Given the description of an element on the screen output the (x, y) to click on. 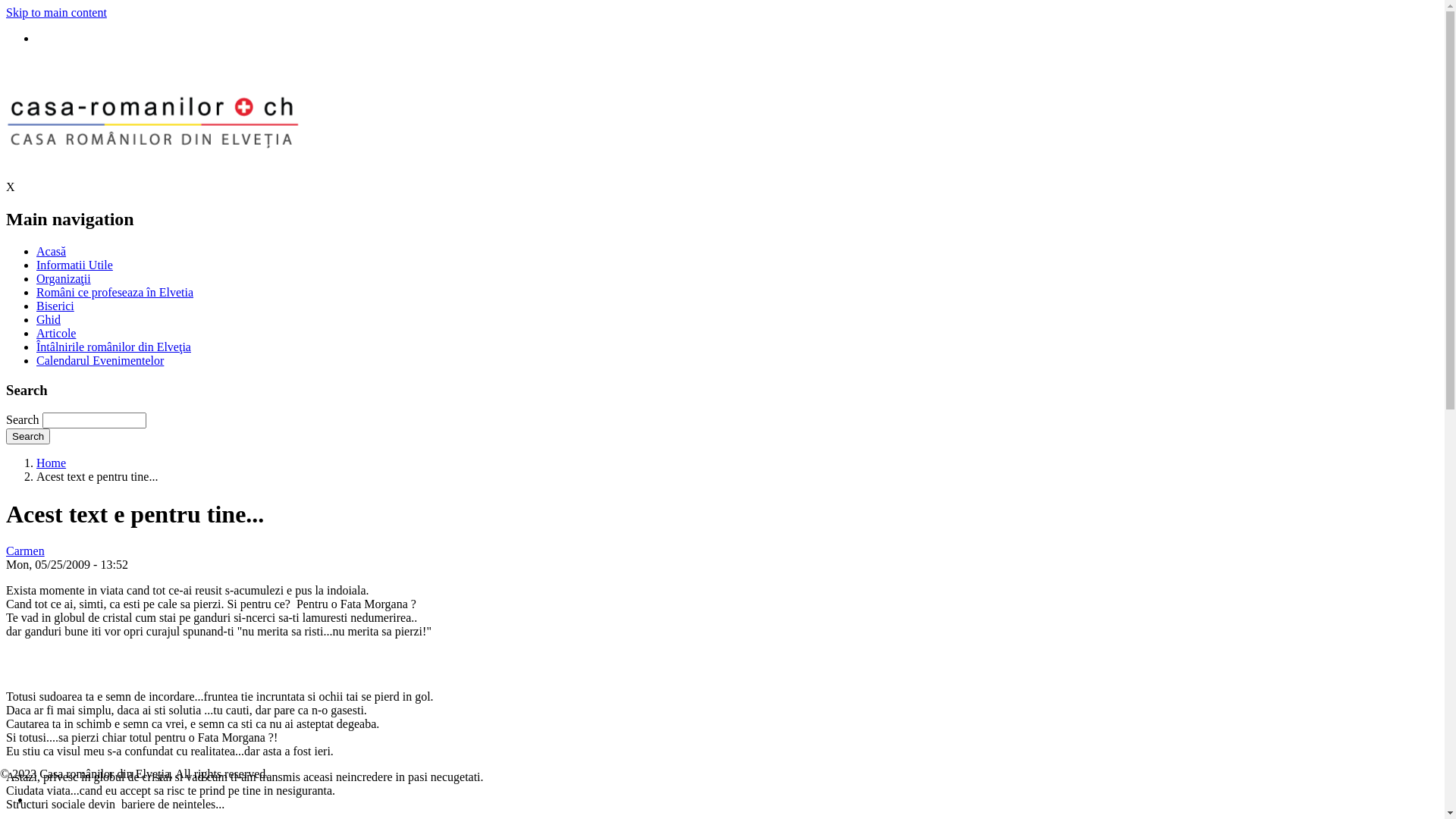
Calendarul Evenimentelor Element type: text (99, 360)
Enter the terms you wish to search for. Element type: hover (94, 420)
Biserici Element type: text (55, 305)
Informatii Utile Element type: text (74, 264)
Home Element type: hover (152, 172)
Ghid Element type: text (48, 319)
Carmen Element type: text (25, 550)
Search Element type: text (28, 436)
Home Element type: text (50, 462)
Articole Element type: text (55, 332)
Skip to main content Element type: text (56, 12)
